Given the description of an element on the screen output the (x, y) to click on. 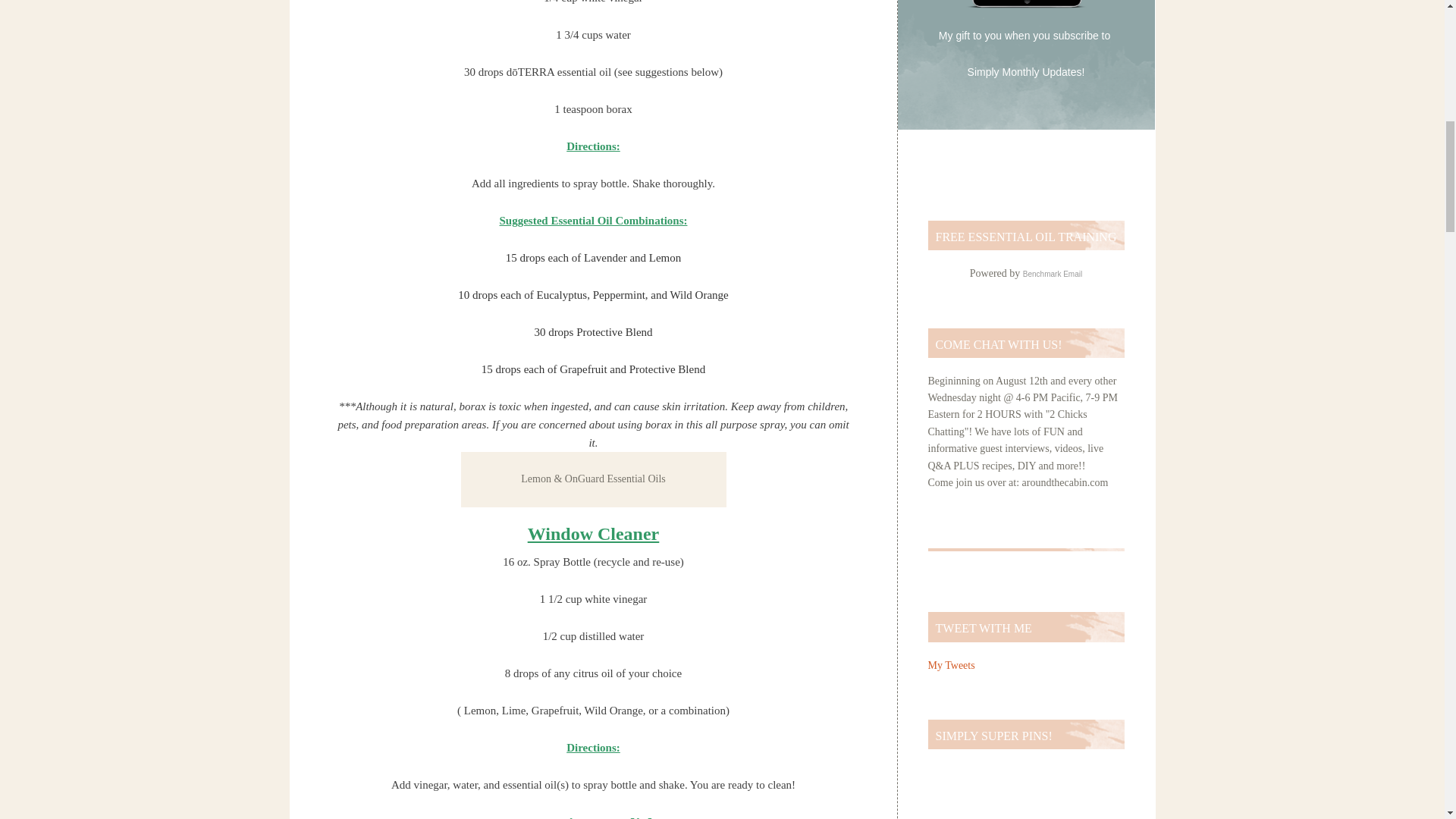
Benchmark Email (1052, 274)
My Tweets (951, 665)
